Given the description of an element on the screen output the (x, y) to click on. 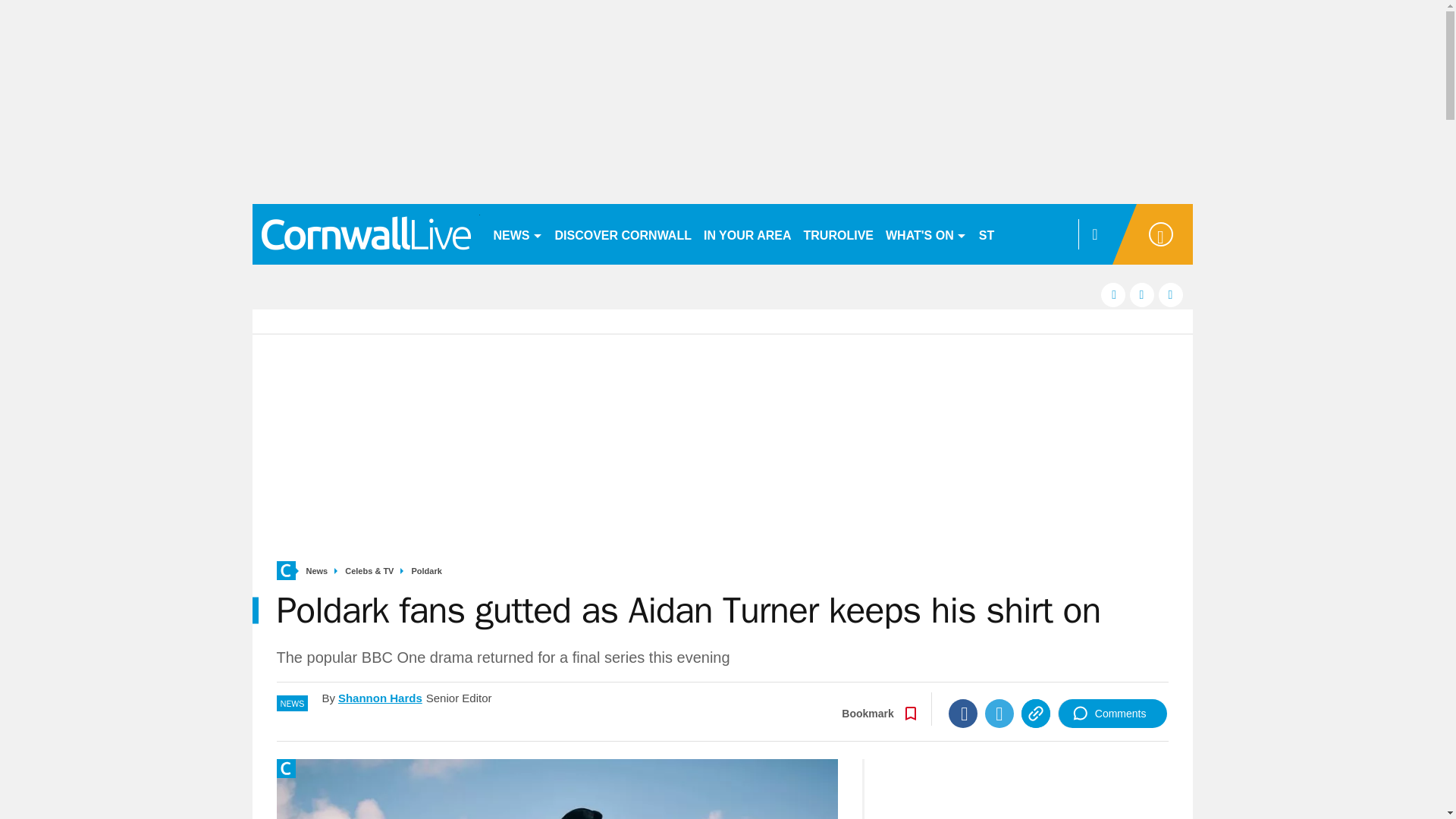
Twitter (999, 713)
twitter (1141, 294)
Facebook (962, 713)
instagram (1170, 294)
WHAT'S ON (925, 233)
TRUROLIVE (838, 233)
IN YOUR AREA (747, 233)
cornwalllive (365, 233)
NEWS (517, 233)
Comments (1112, 713)
facebook (1112, 294)
ST AUSTELL (1015, 233)
DISCOVER CORNWALL (622, 233)
